Given the description of an element on the screen output the (x, y) to click on. 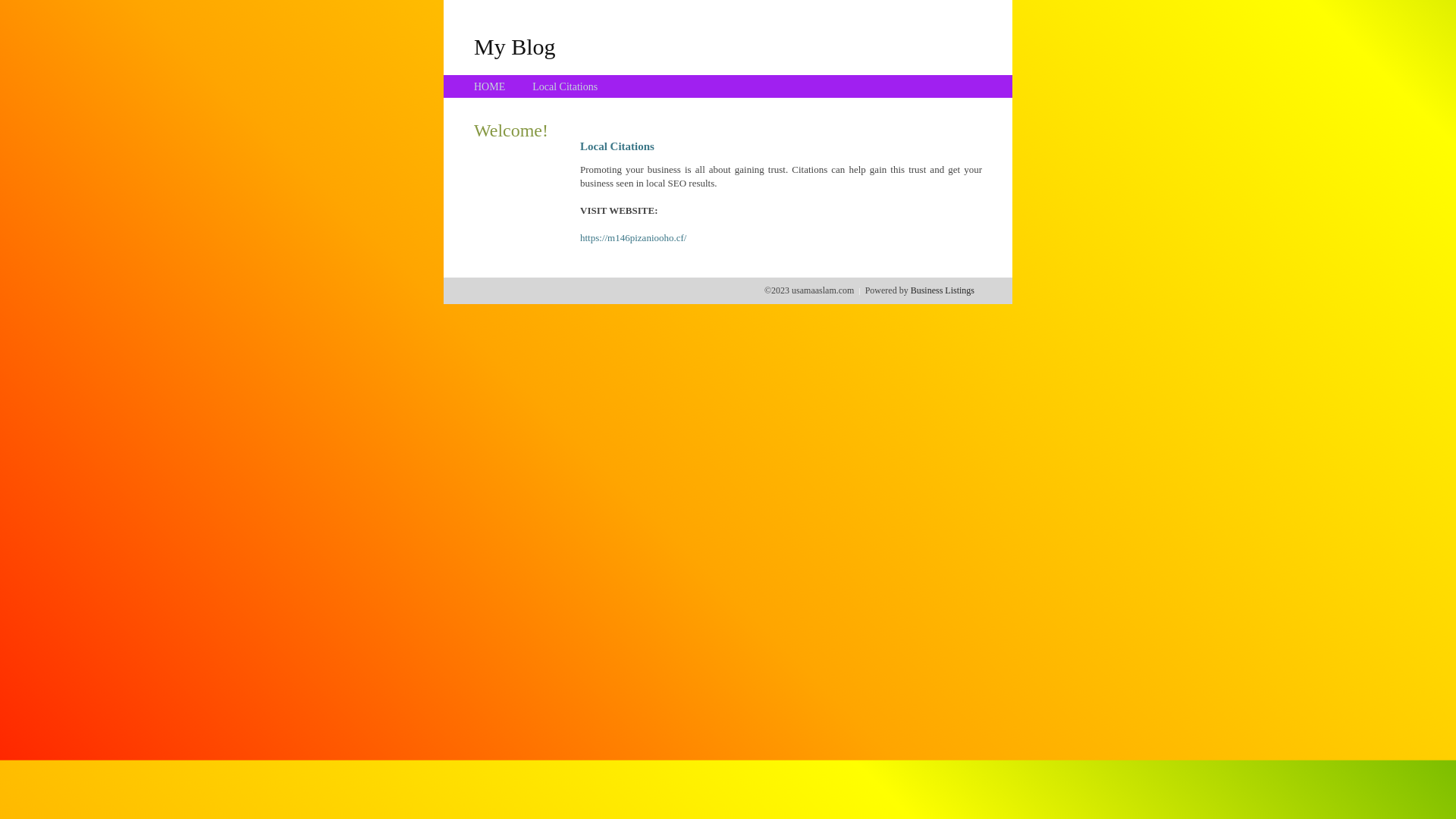
My Blog Element type: text (514, 46)
https://m146pizaniooho.cf/ Element type: text (633, 237)
Local Citations Element type: text (564, 86)
Business Listings Element type: text (942, 290)
HOME Element type: text (489, 86)
